Given the description of an element on the screen output the (x, y) to click on. 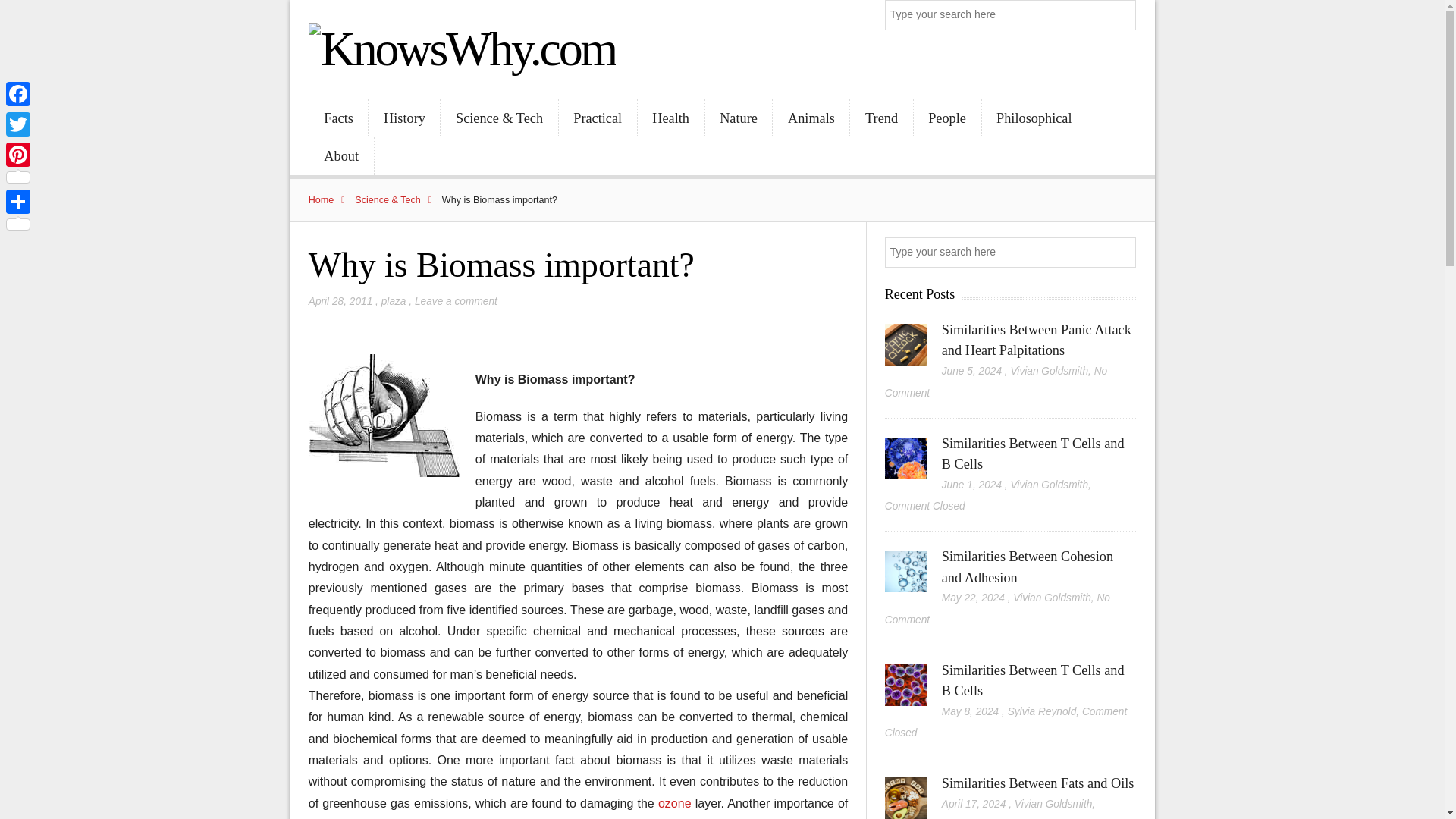
Posts by plaza (393, 301)
plaza (393, 301)
Animals (810, 118)
People (947, 118)
History (403, 118)
Philosophical (1033, 118)
About (341, 156)
Why? (384, 414)
Facts (338, 118)
Home (330, 199)
